Given the description of an element on the screen output the (x, y) to click on. 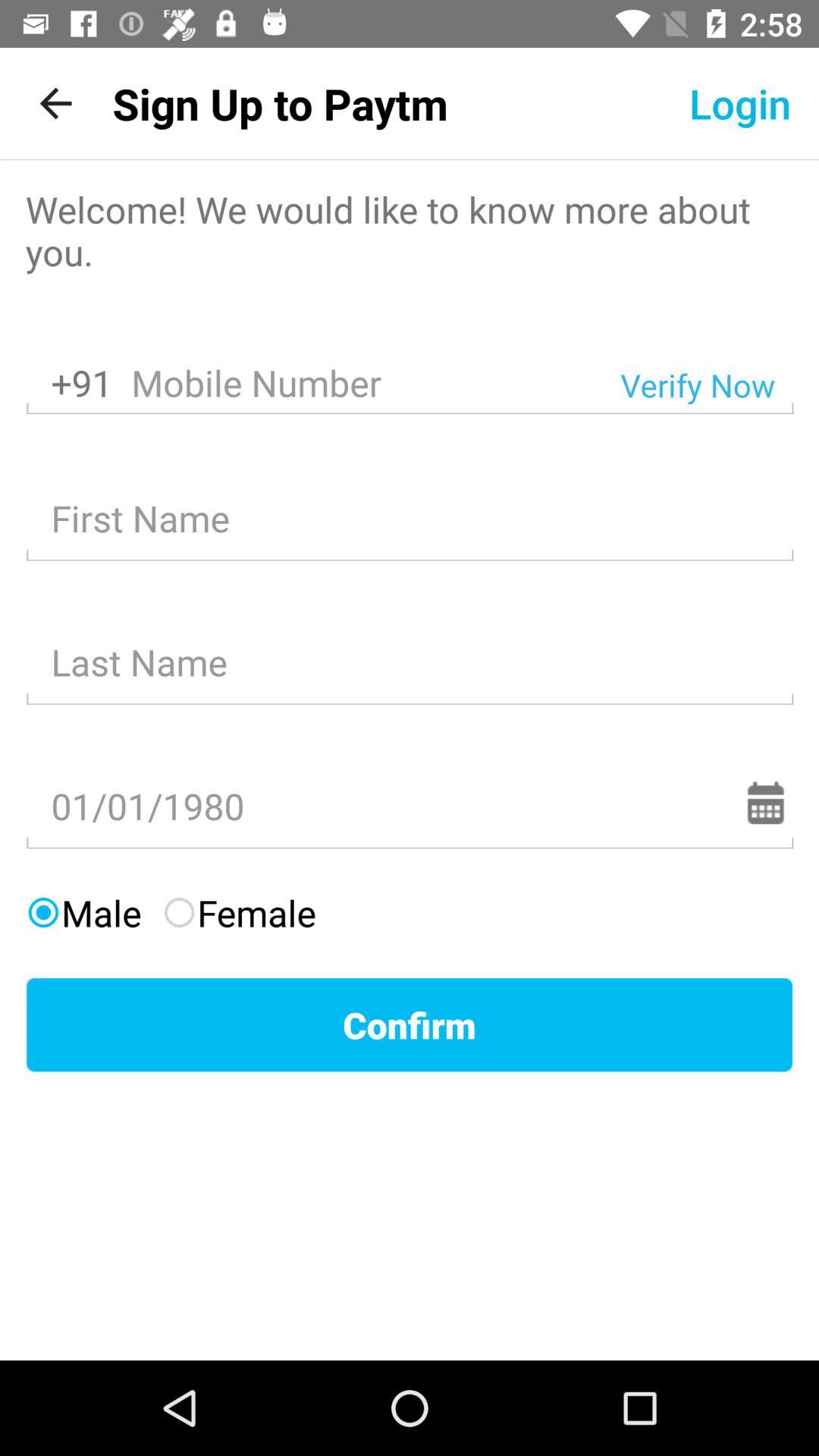
flip until the sign up to (280, 103)
